Given the description of an element on the screen output the (x, y) to click on. 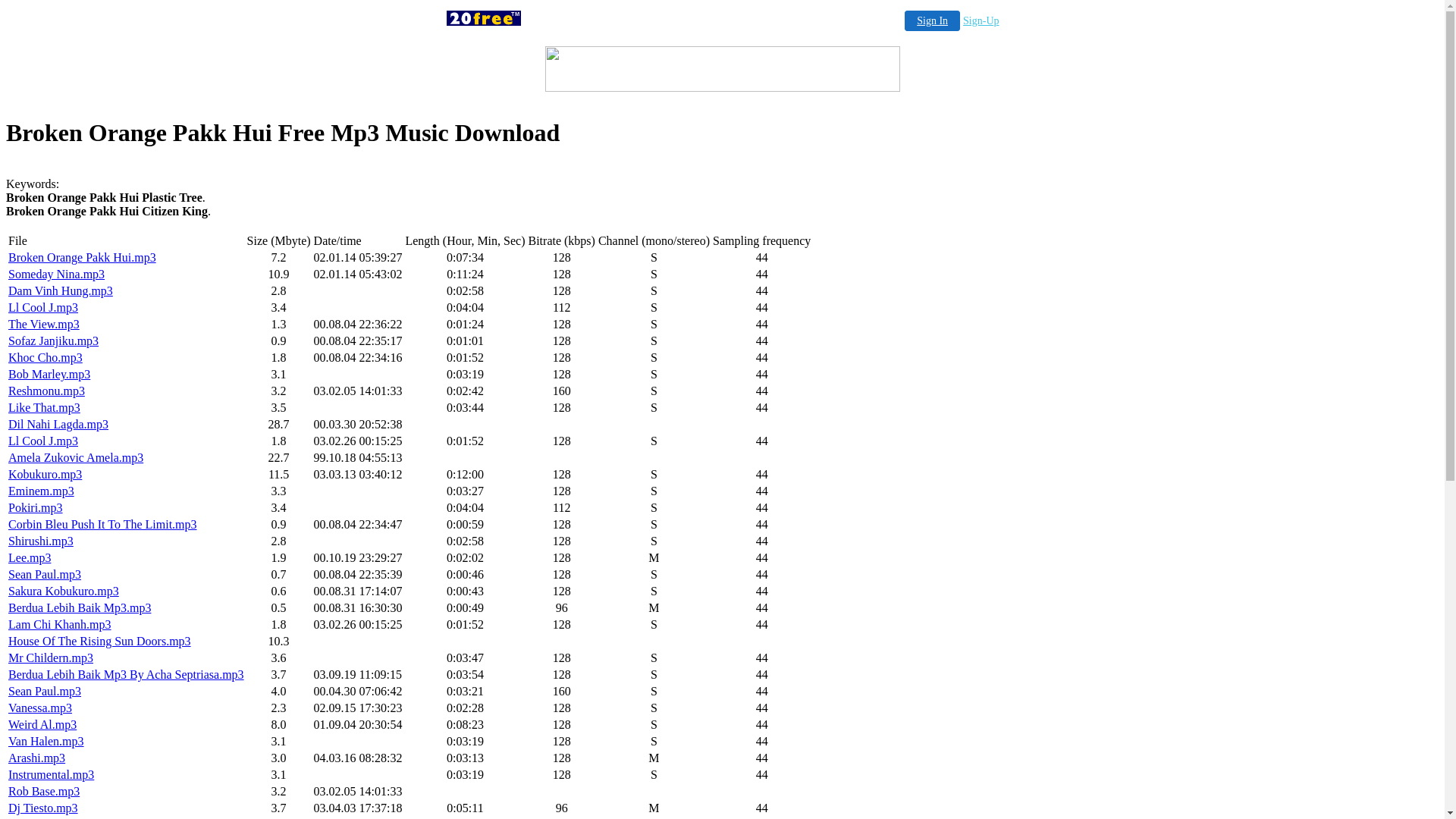
Ll Cool J.mp3 Element type: text (43, 307)
Sakura Kobukuro.mp3 Element type: text (63, 590)
Instrumental.mp3 Element type: text (51, 774)
Dam Vinh Hung.mp3 Element type: text (60, 290)
Shirushi.mp3 Element type: text (40, 540)
Sofaz Janjiku.mp3 Element type: text (53, 340)
Berdua Lebih Baik Mp3 By Acha Septriasa.mp3 Element type: text (126, 674)
Ll Cool J.mp3 Element type: text (43, 440)
Vanessa.mp3 Element type: text (40, 707)
Lee.mp3 Element type: text (29, 557)
Broken Orange Pakk Hui.mp3 Element type: text (82, 257)
House Of The Rising Sun Doors.mp3 Element type: text (99, 640)
Eminem.mp3 Element type: text (41, 490)
Dj Tiesto.mp3 Element type: text (43, 807)
Amela Zukovic Amela.mp3 Element type: text (75, 457)
Someday Nina.mp3 Element type: text (56, 273)
Sean Paul.mp3 Element type: text (44, 573)
Sign In Element type: text (932, 20)
Van Halen.mp3 Element type: text (46, 740)
Pokiri.mp3 Element type: text (35, 507)
Like That.mp3 Element type: text (44, 407)
Sean Paul.mp3 Element type: text (44, 690)
Sign-Up Element type: text (980, 20)
Corbin Bleu Push It To The Limit.mp3 Element type: text (102, 523)
Berdua Lebih Baik Mp3.mp3 Element type: text (79, 607)
The View.mp3 Element type: text (43, 323)
Dil Nahi Lagda.mp3 Element type: text (58, 423)
Rob Base.mp3 Element type: text (43, 790)
Bob Marley.mp3 Element type: text (49, 373)
Arashi.mp3 Element type: text (36, 757)
Khoc Cho.mp3 Element type: text (45, 357)
Kobukuro.mp3 Element type: text (44, 473)
Reshmonu.mp3 Element type: text (46, 390)
Mr Childern.mp3 Element type: text (50, 657)
Lam Chi Khanh.mp3 Element type: text (59, 624)
Weird Al.mp3 Element type: text (42, 724)
